Given the description of an element on the screen output the (x, y) to click on. 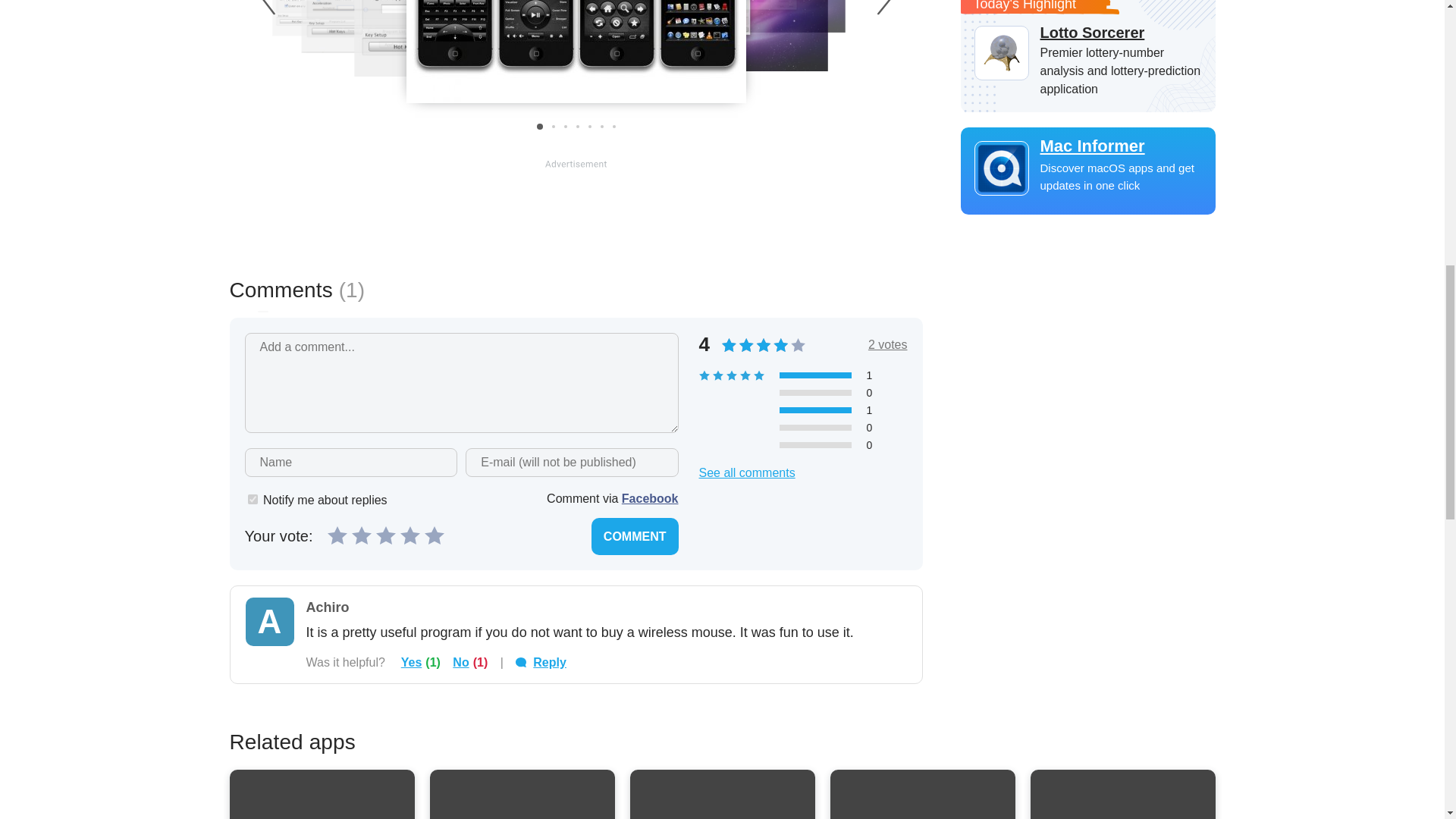
4 (409, 535)
1 (252, 499)
2 (361, 535)
Lotto Sorcerer (1087, 32)
Mac Informer (1087, 146)
3 (385, 535)
1 (336, 535)
5 (434, 535)
Comment (634, 536)
